Given the description of an element on the screen output the (x, y) to click on. 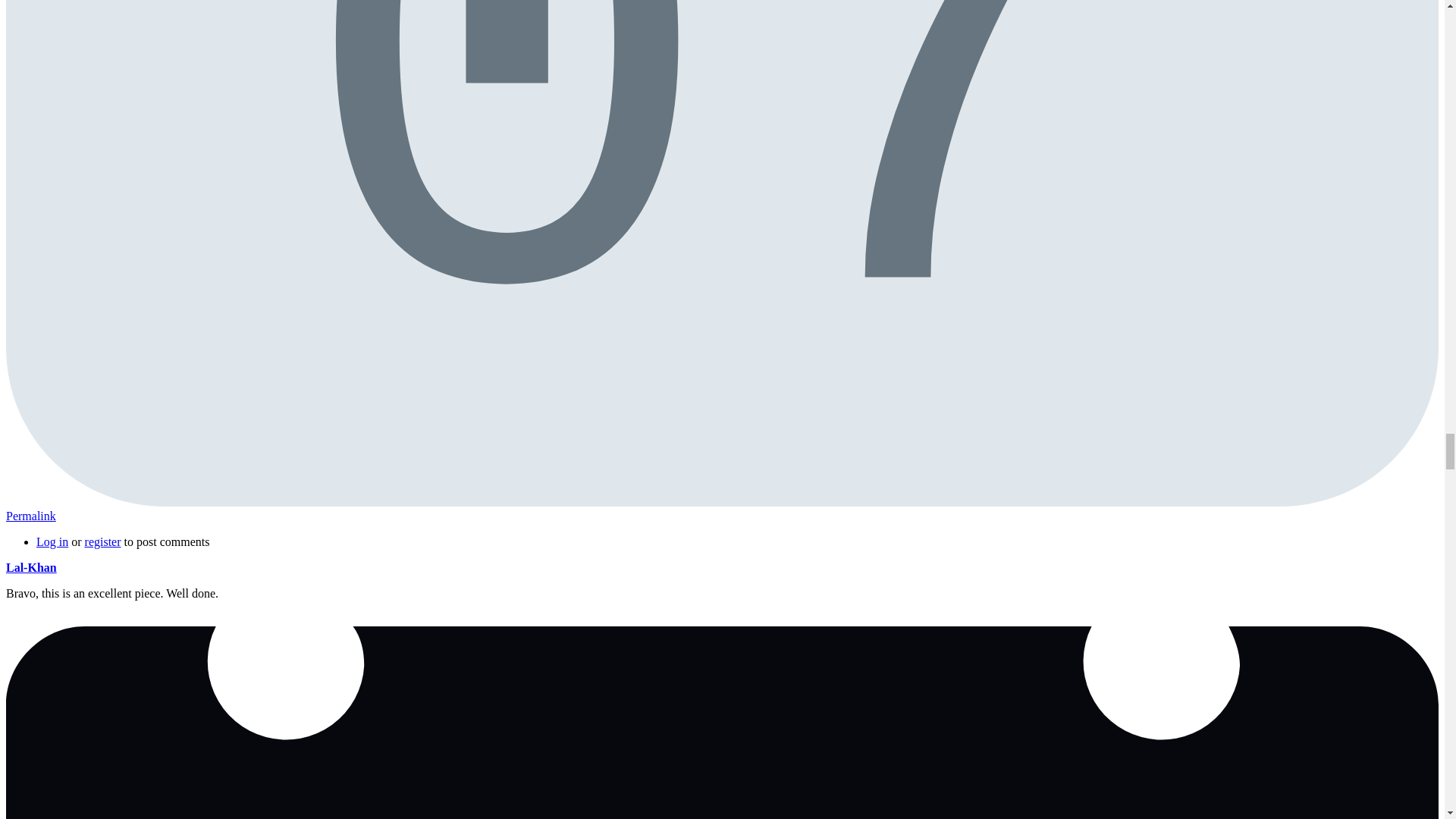
View user profile. (30, 567)
Log in (52, 541)
Permalink (30, 515)
